Given the description of an element on the screen output the (x, y) to click on. 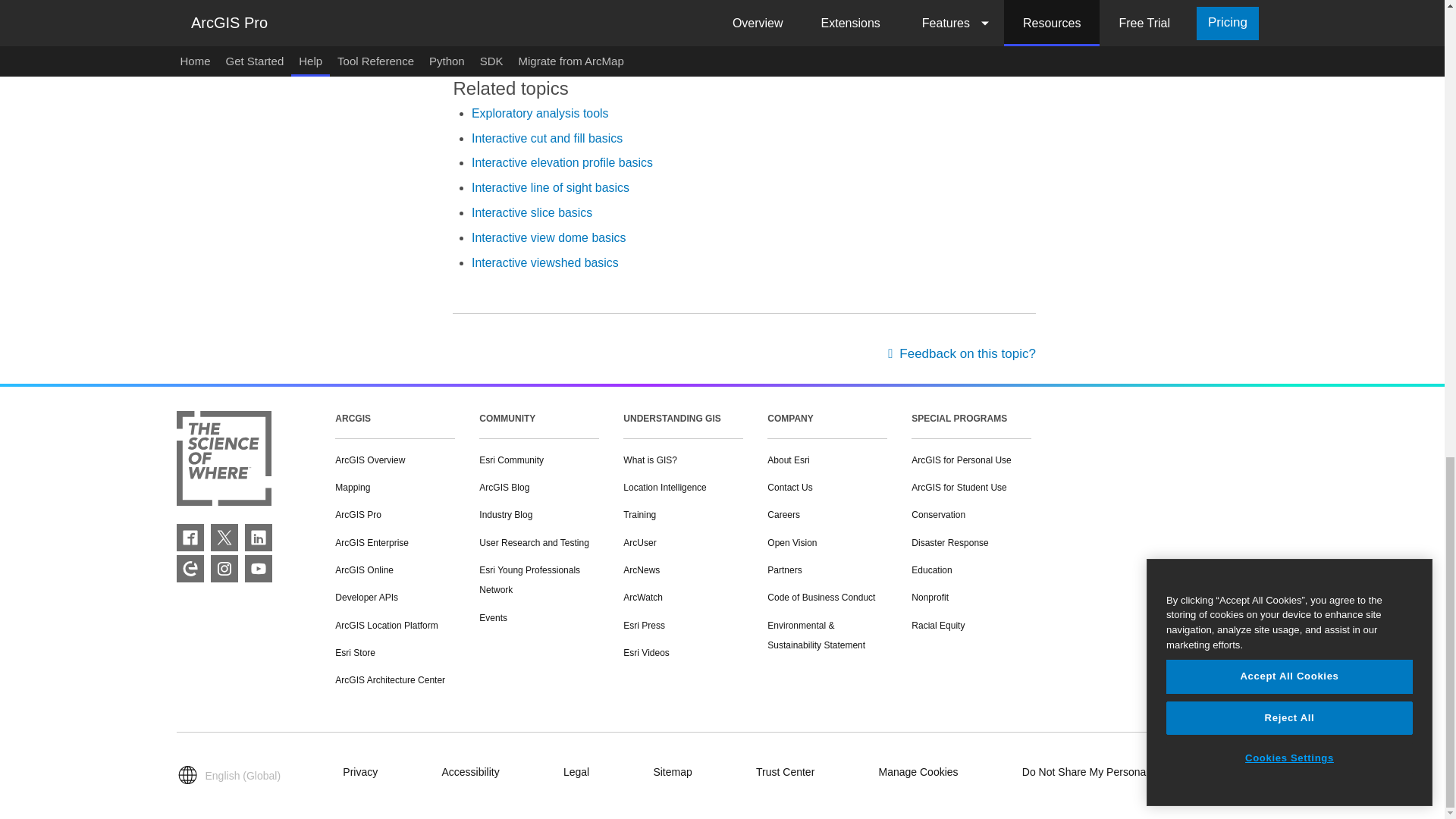
Esri Community (189, 568)
Switch Language (232, 775)
LinkedIn (257, 537)
Instagram (224, 568)
Facebook (189, 537)
Twitter (224, 537)
YouTube (257, 568)
More about Esri and the Science of Where (223, 461)
